Given the description of an element on the screen output the (x, y) to click on. 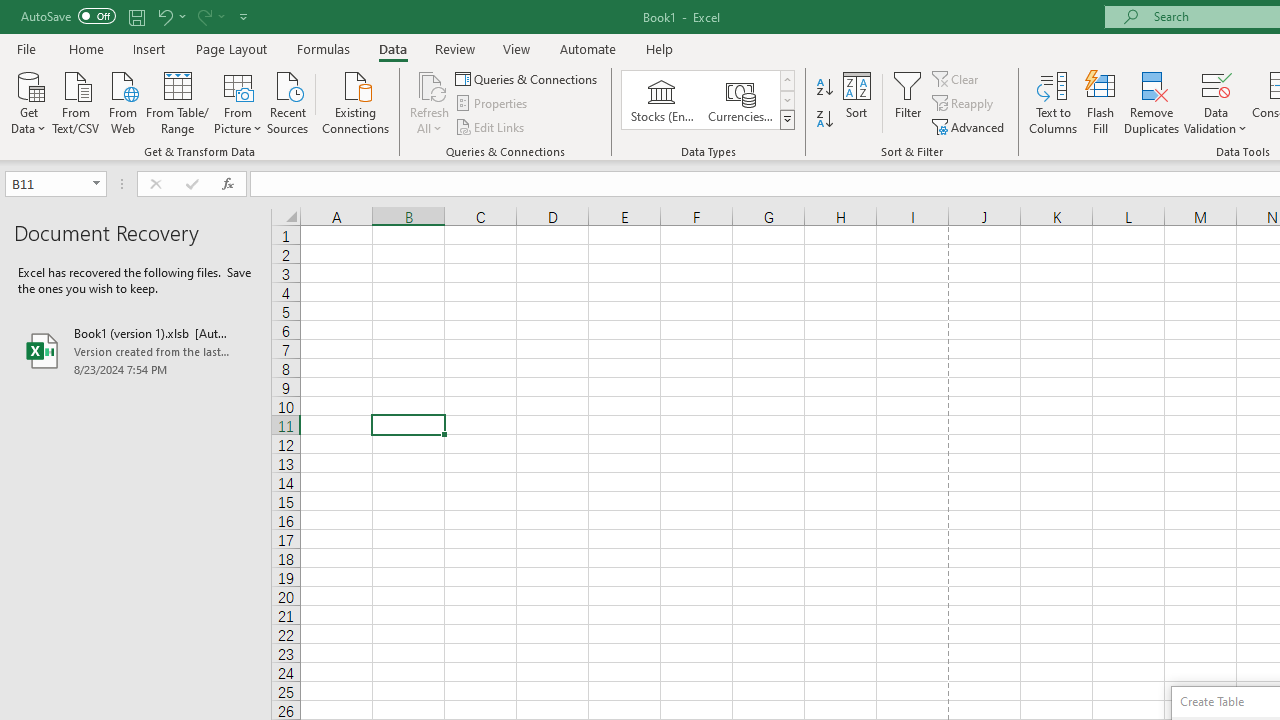
Book1 (version 1).xlsb  [AutoRecovered] (136, 350)
Data (392, 48)
Customize Quick Access Toolbar (244, 15)
Help (660, 48)
File Tab (26, 48)
Advanced... (970, 126)
More Options (1215, 121)
Data Validation... (1215, 102)
Formulas (323, 48)
Row Down (786, 100)
Open (96, 183)
Filter (908, 102)
